Given the description of an element on the screen output the (x, y) to click on. 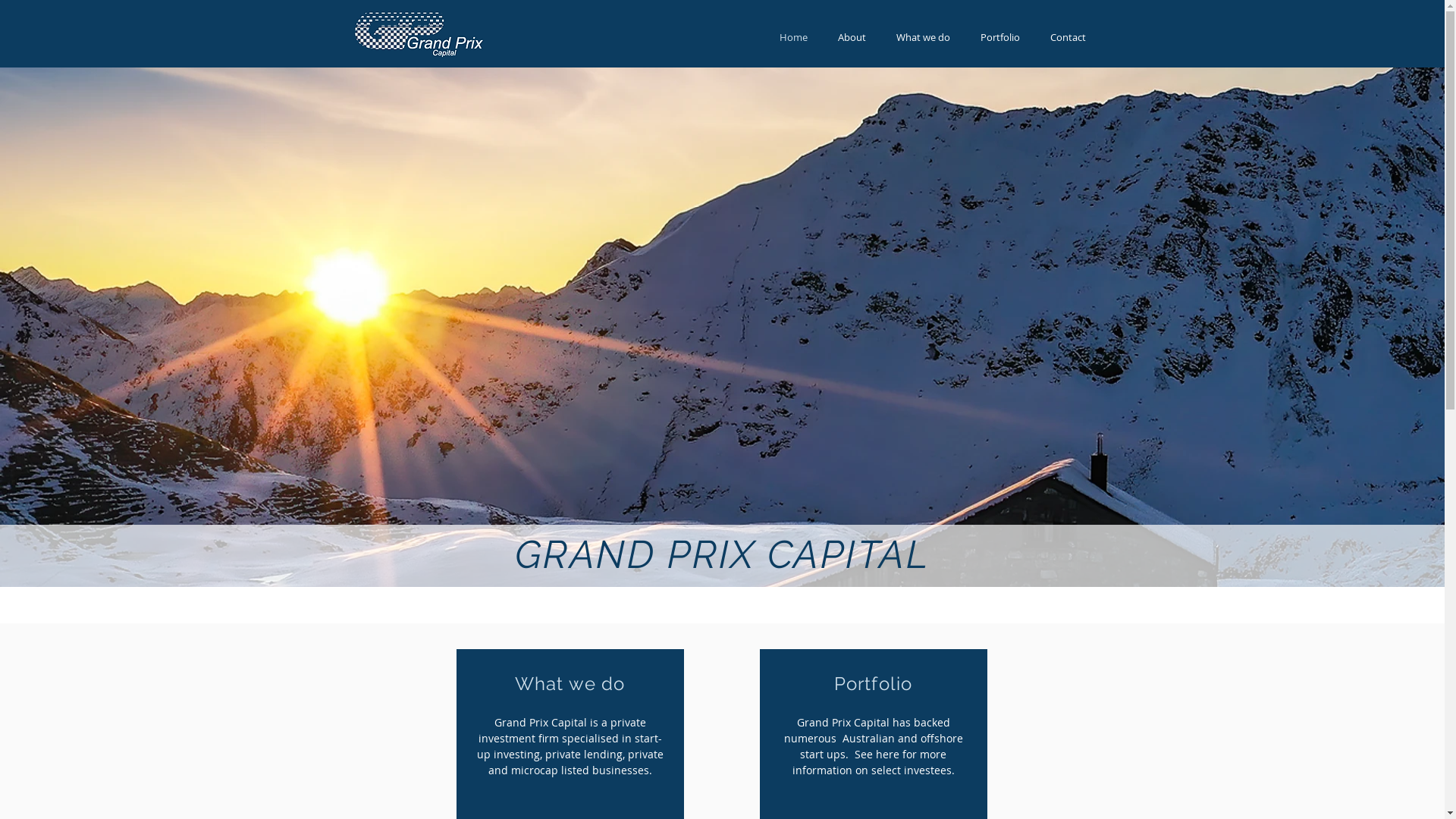
About Element type: text (851, 37)
Portfolio Element type: text (999, 37)
Home Element type: text (793, 37)
Contact Element type: text (1067, 37)
What we do Element type: text (923, 37)
